Given the description of an element on the screen output the (x, y) to click on. 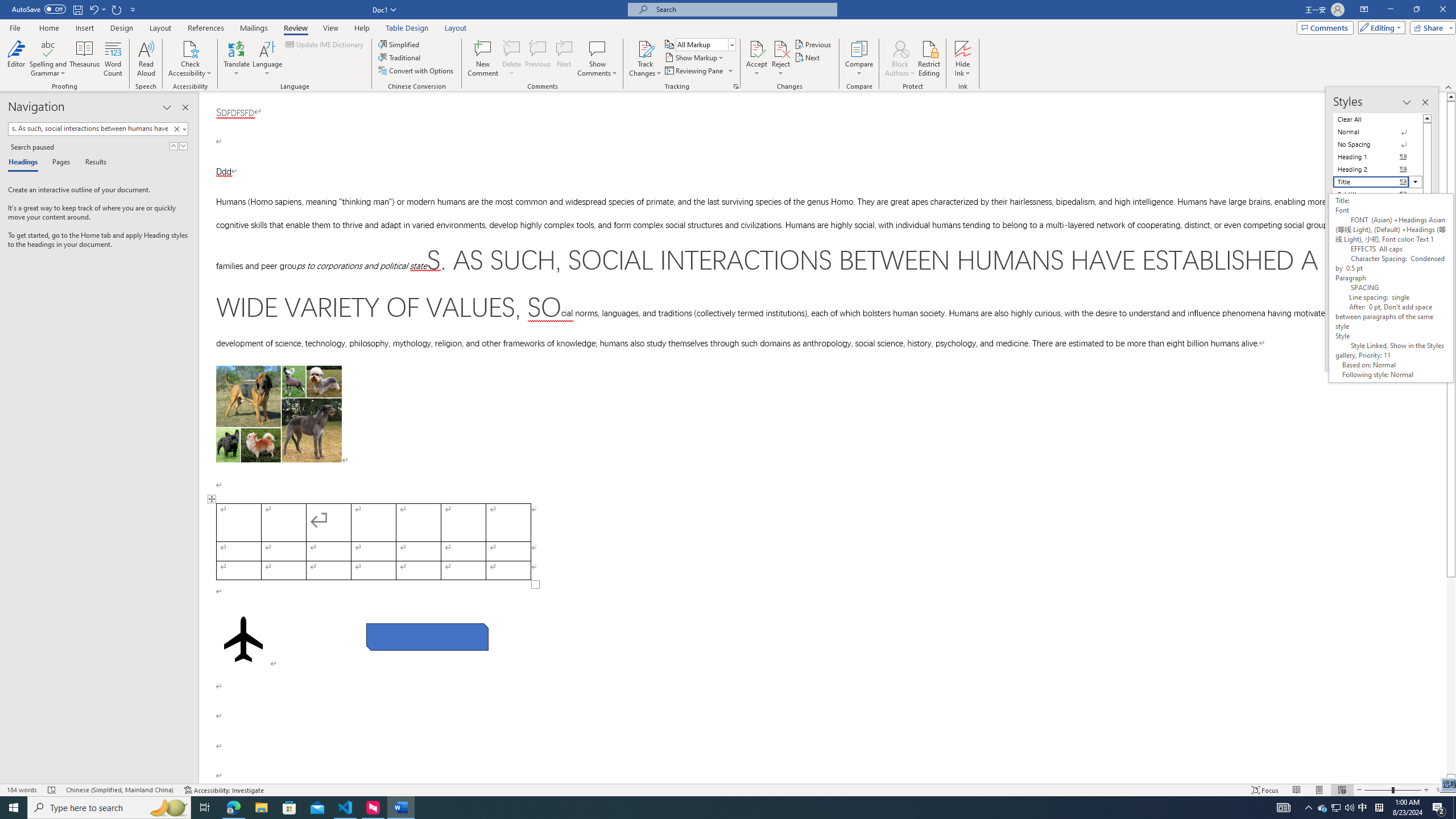
Read Aloud (145, 58)
Reviewing Pane (698, 69)
Line down (1450, 778)
Zoom 100% (1443, 790)
Undo Style (92, 9)
Show Comments (597, 48)
Spelling and Grammar (48, 58)
Emphasis (1377, 219)
Accept and Move to Next (756, 48)
